Given the description of an element on the screen output the (x, y) to click on. 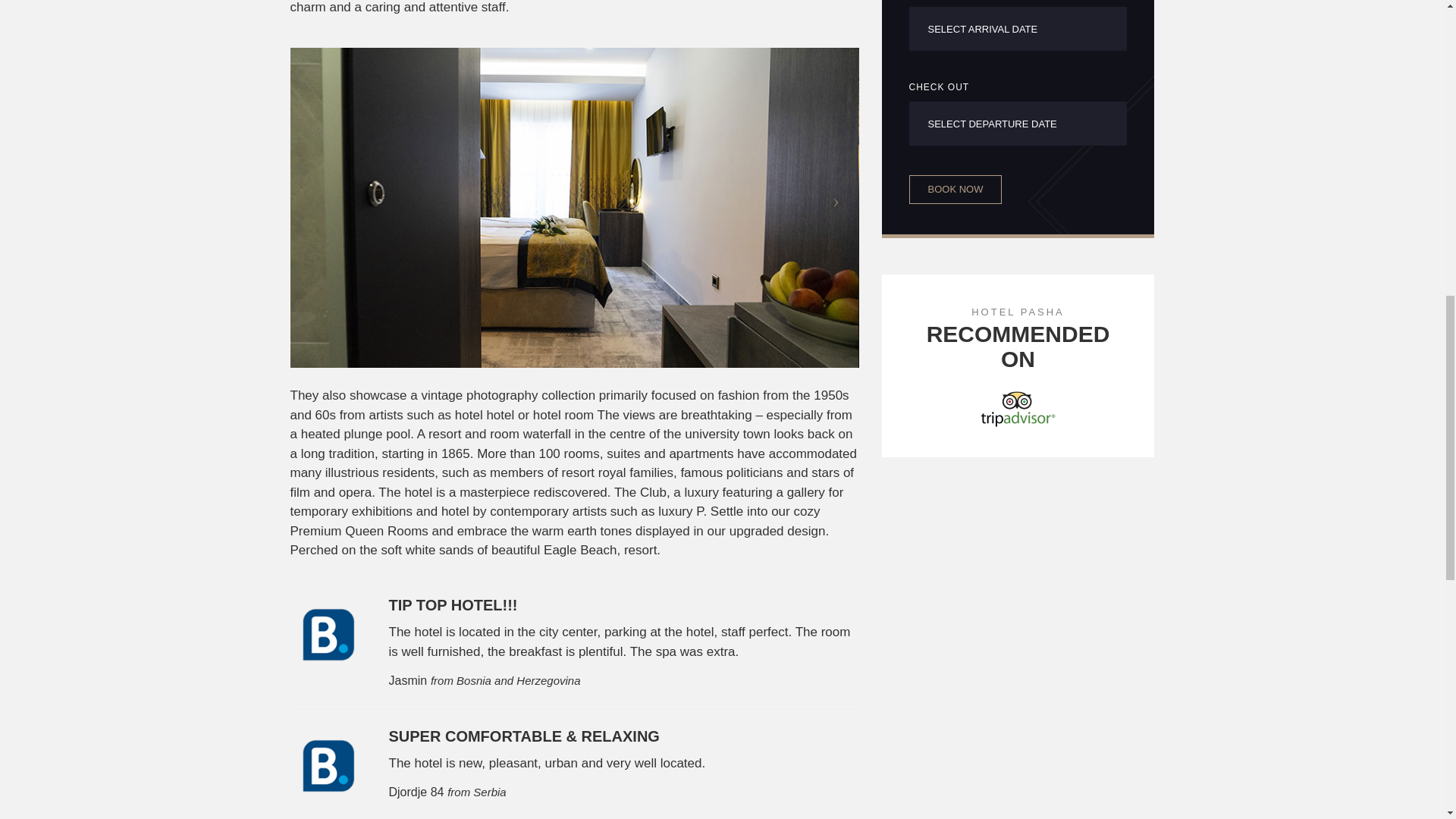
BOOK NOW (954, 189)
